Given the description of an element on the screen output the (x, y) to click on. 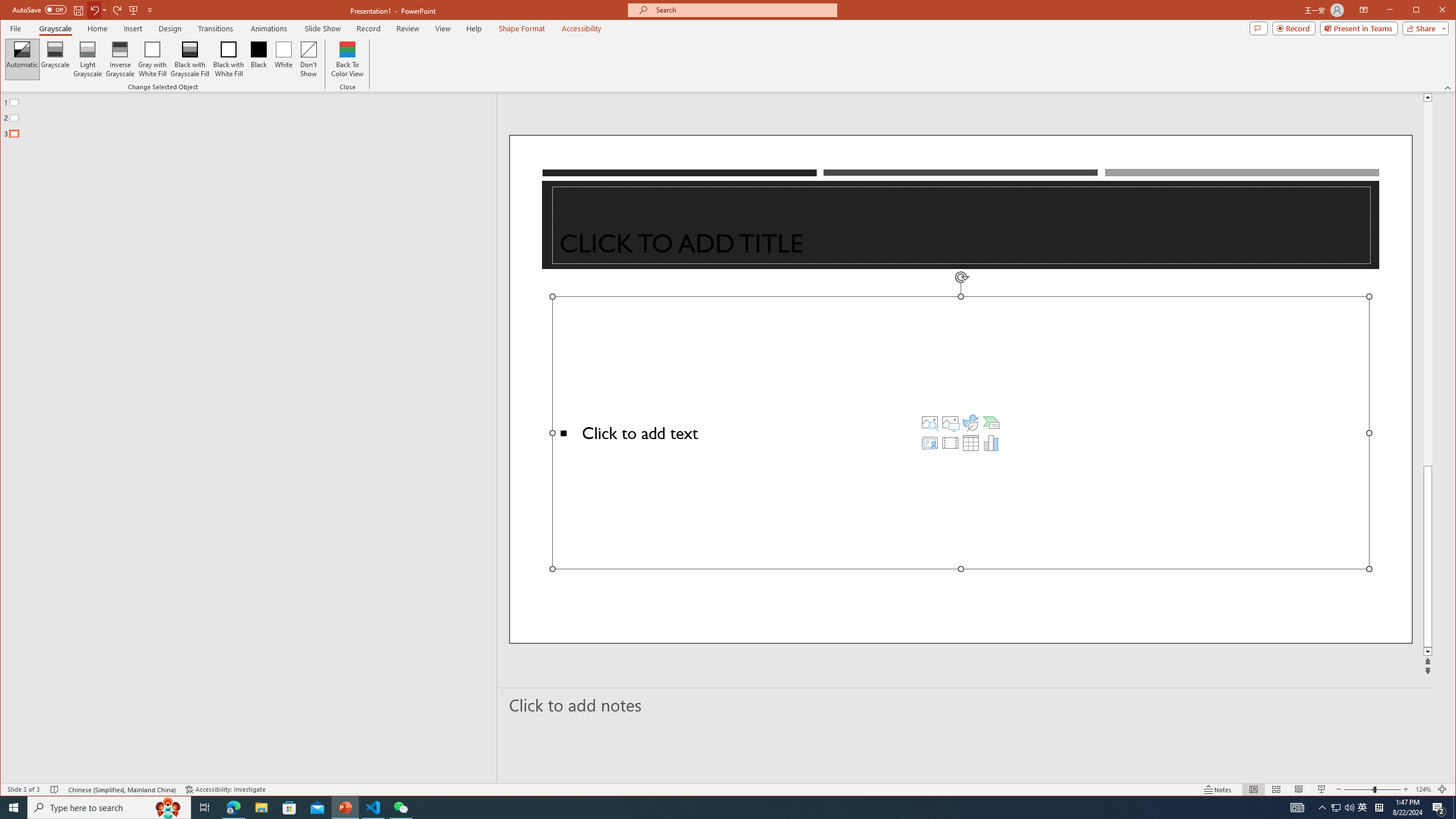
Insert a SmartArt Graphic (991, 422)
Automatic (22, 59)
Black with White Fill (229, 59)
